Given the description of an element on the screen output the (x, y) to click on. 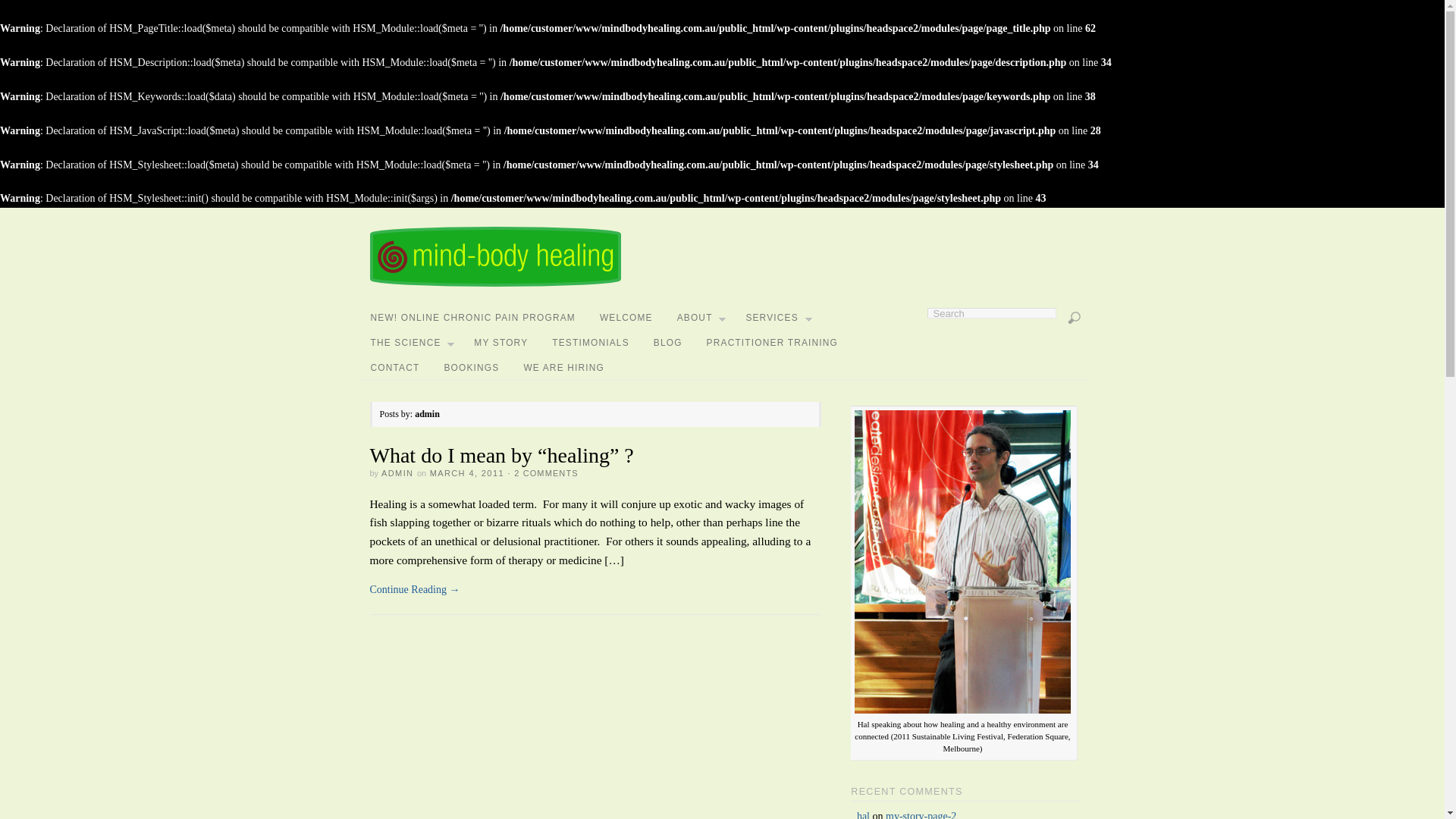
MY STORY Element type: text (500, 342)
NEW! ONLINE CHRONIC PAIN PROGRAM Element type: text (471, 317)
MindBody Healing Element type: hover (495, 282)
SERVICES Element type: text (776, 317)
WELCOME Element type: text (626, 317)
BOOKINGS Element type: text (471, 366)
THE SCIENCE Element type: text (409, 342)
PRACTITIONER TRAINING Element type: text (772, 342)
TESTIMONIALS Element type: text (590, 342)
WE ARE HIRING Element type: text (563, 366)
BLOG Element type: text (667, 342)
fed_square_bmw_edge_future_stories_talk Element type: hover (962, 561)
ABOUT Element type: text (699, 317)
CONTACT Element type: text (394, 366)
ADMIN Element type: text (397, 473)
2 COMMENTS Element type: text (545, 473)
